Given the description of an element on the screen output the (x, y) to click on. 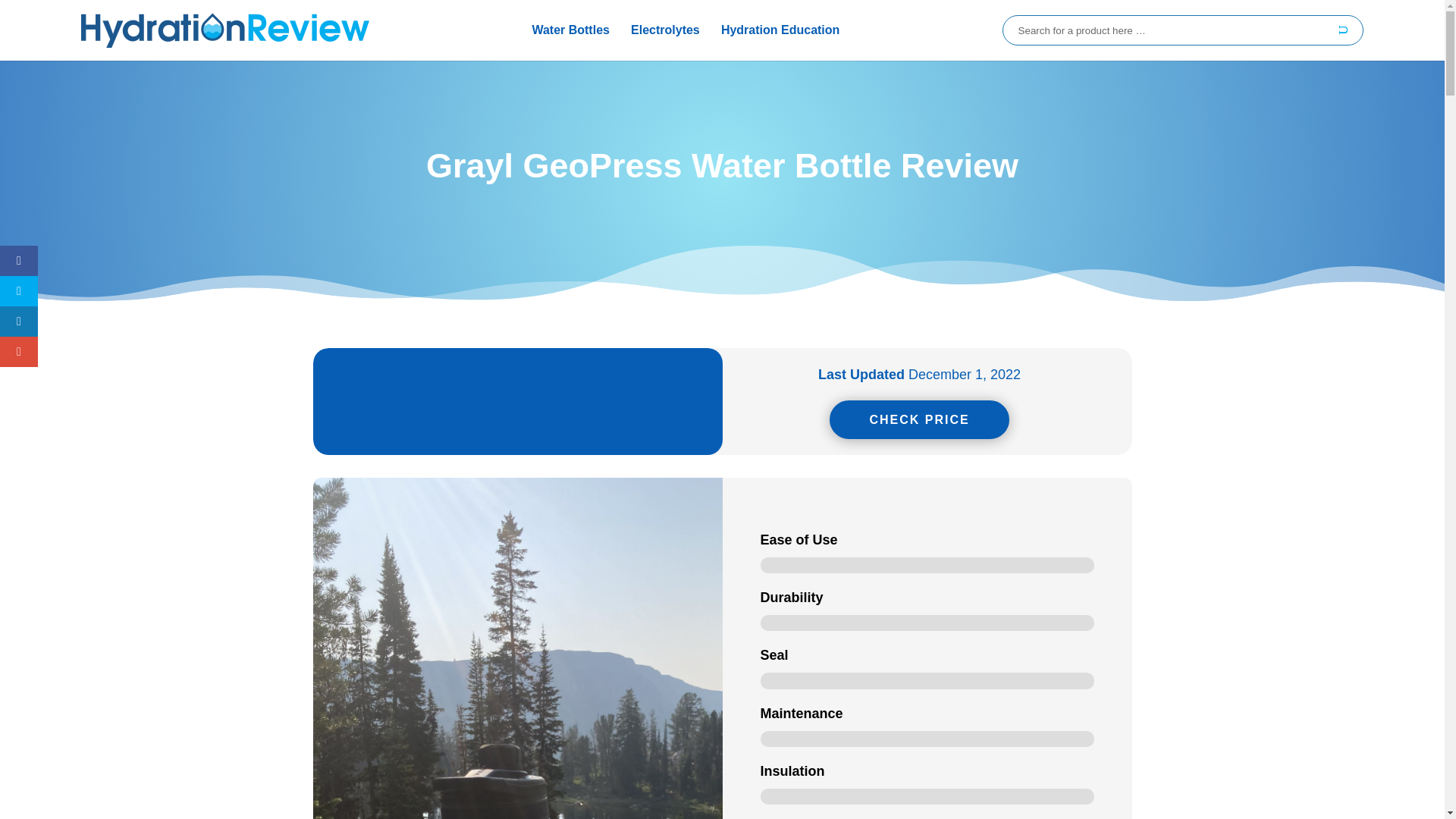
Electrolytes (665, 30)
CHECK PRICE (919, 419)
Search for: (1182, 30)
Water Bottles (570, 30)
Hydration Education (780, 30)
